Given the description of an element on the screen output the (x, y) to click on. 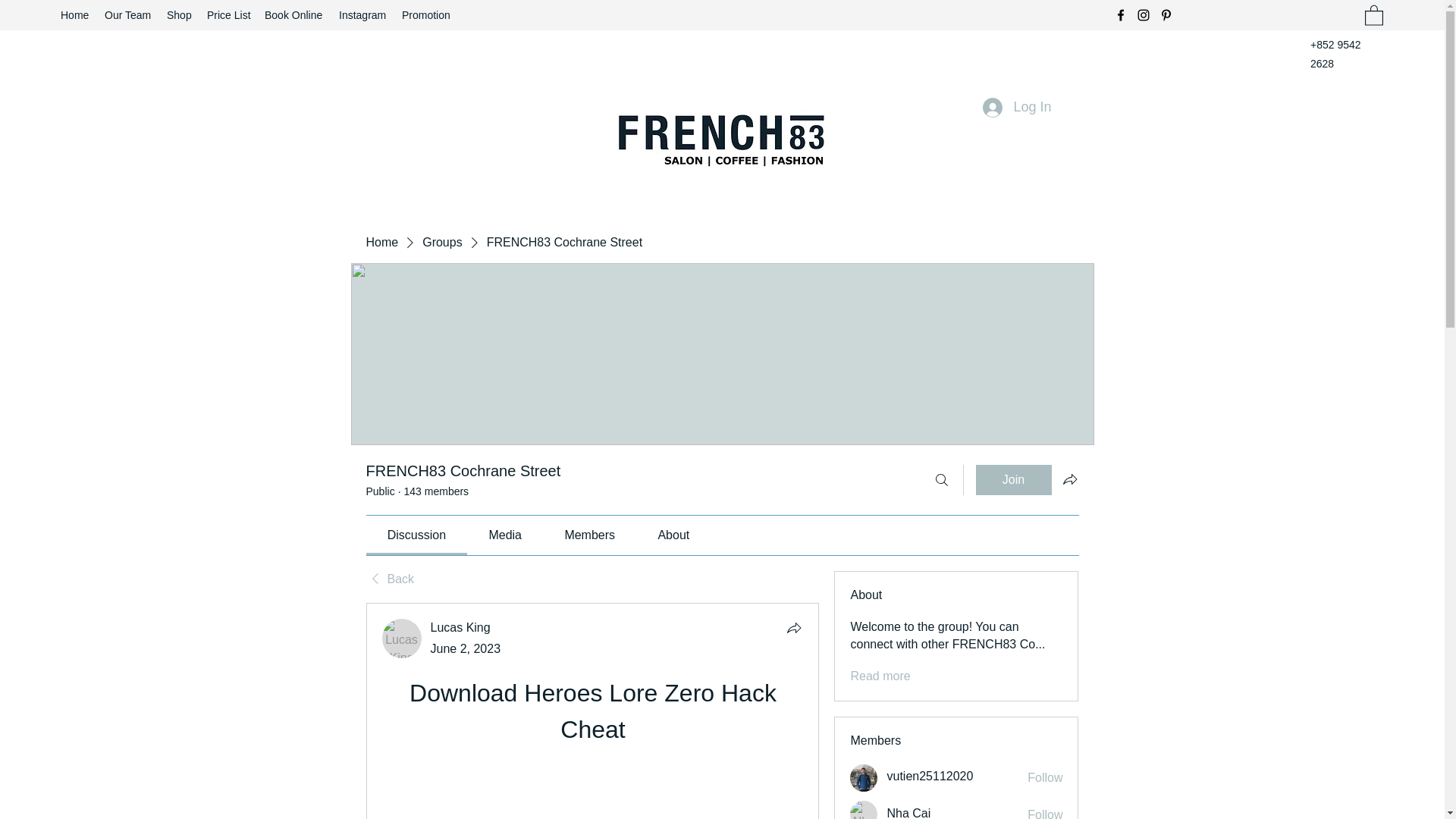
vutien25112020 (863, 777)
Nha Cai (908, 812)
Back (389, 579)
Groups (441, 242)
June 2, 2023 (465, 648)
Book Online (294, 15)
Home (74, 15)
Log In (1016, 107)
Lucas King (401, 638)
Nha Cai (863, 809)
